Given the description of an element on the screen output the (x, y) to click on. 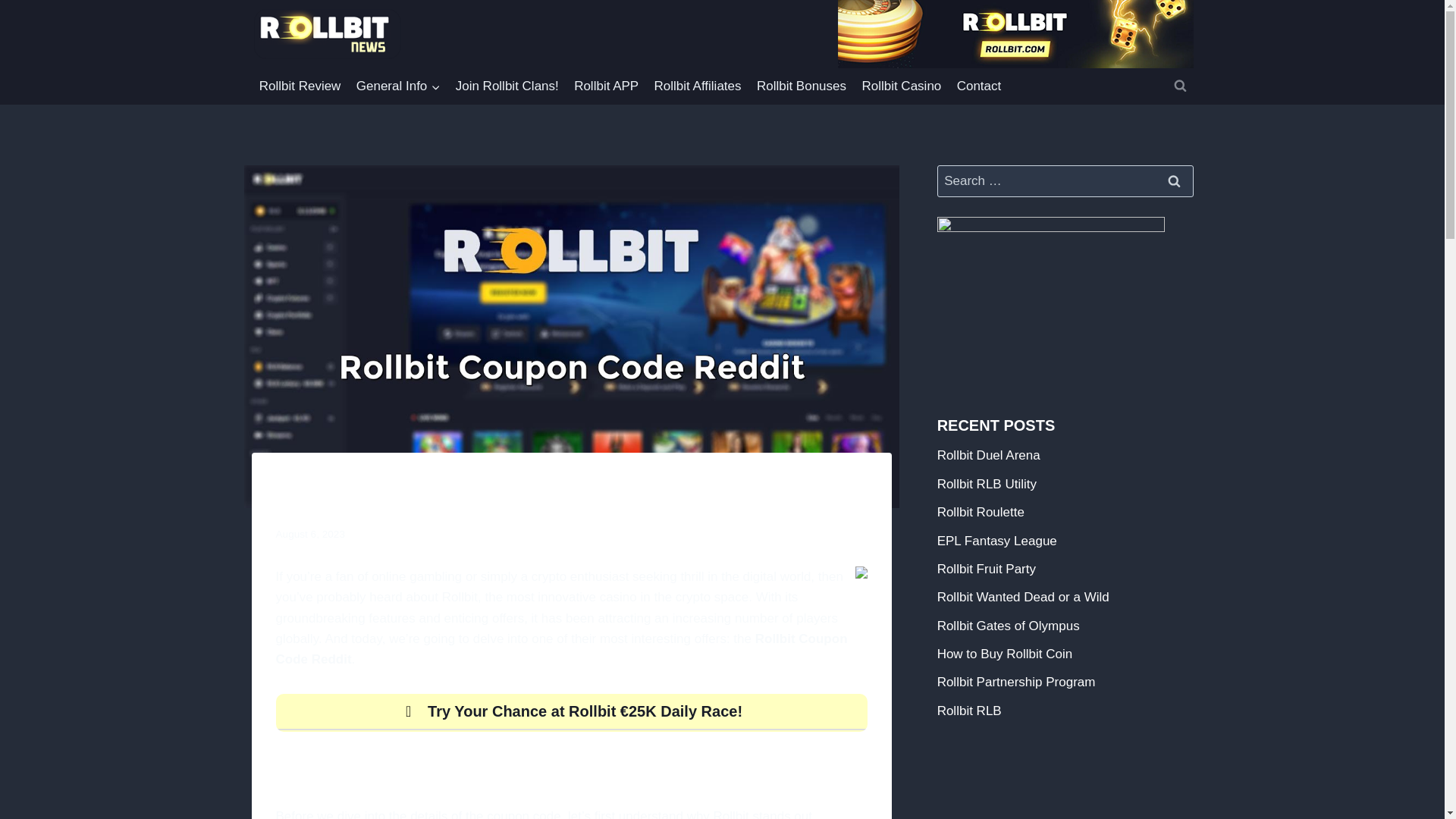
Rollbit APP (606, 85)
Rollbit Duel Arena (989, 454)
Rollbit Casino (901, 85)
Contact (979, 85)
General Info (398, 85)
Search (1174, 181)
Rollbit Bonuses (801, 85)
Rollbit Review (300, 85)
Rollbit Affiliates (697, 85)
Search (1174, 181)
Rollbit RLB Utility (986, 483)
Search (1174, 181)
Join Rollbit Clans! (507, 85)
